Given the description of an element on the screen output the (x, y) to click on. 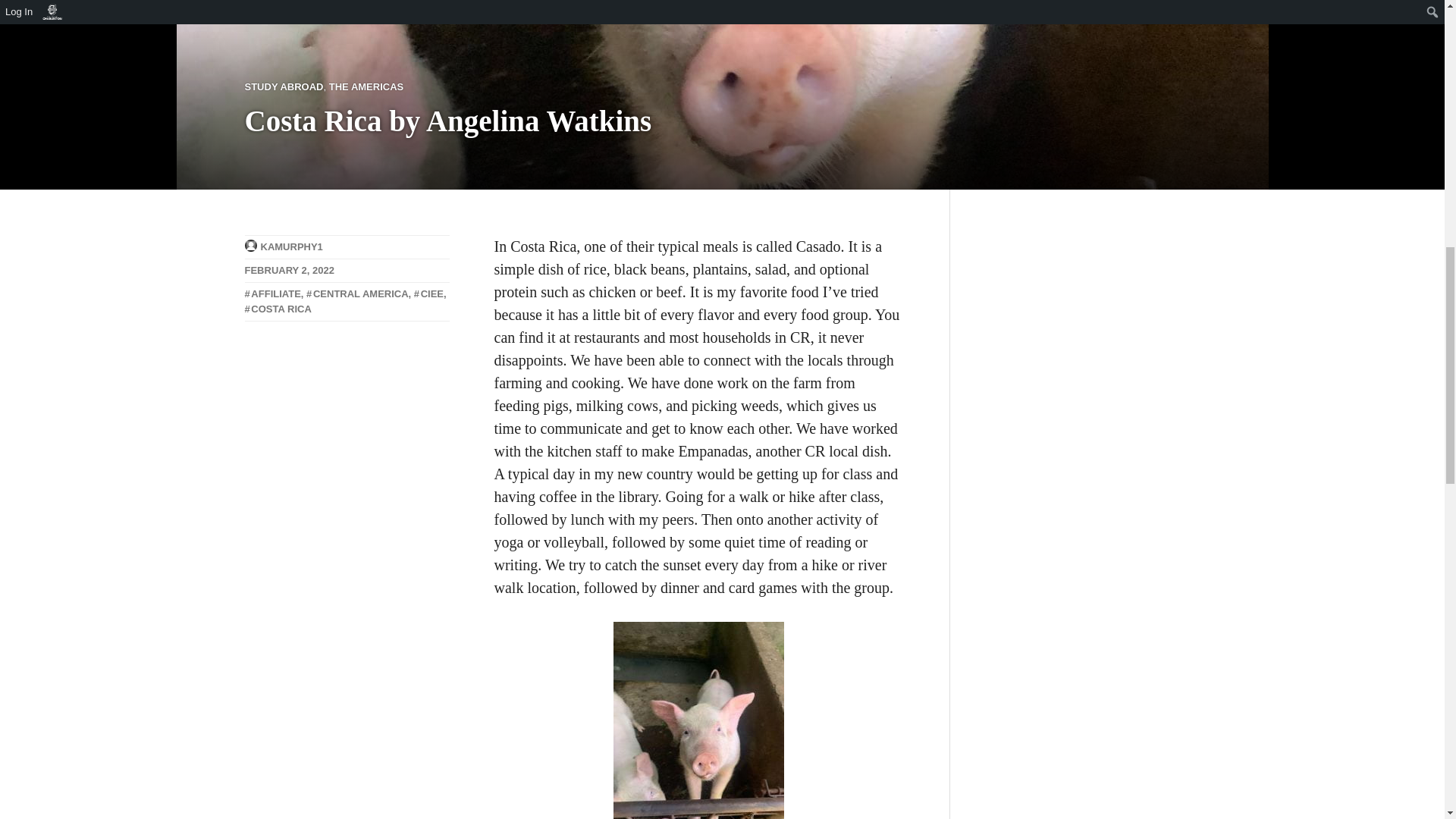
CIEE (428, 293)
KAMURPHY1 (291, 246)
FEBRUARY 2, 2022 (289, 270)
CENTRAL AMERICA (357, 293)
STUDY ABROAD (283, 86)
AFFILIATE (271, 293)
COSTA RICA (277, 308)
THE AMERICAS (366, 86)
